Given the description of an element on the screen output the (x, y) to click on. 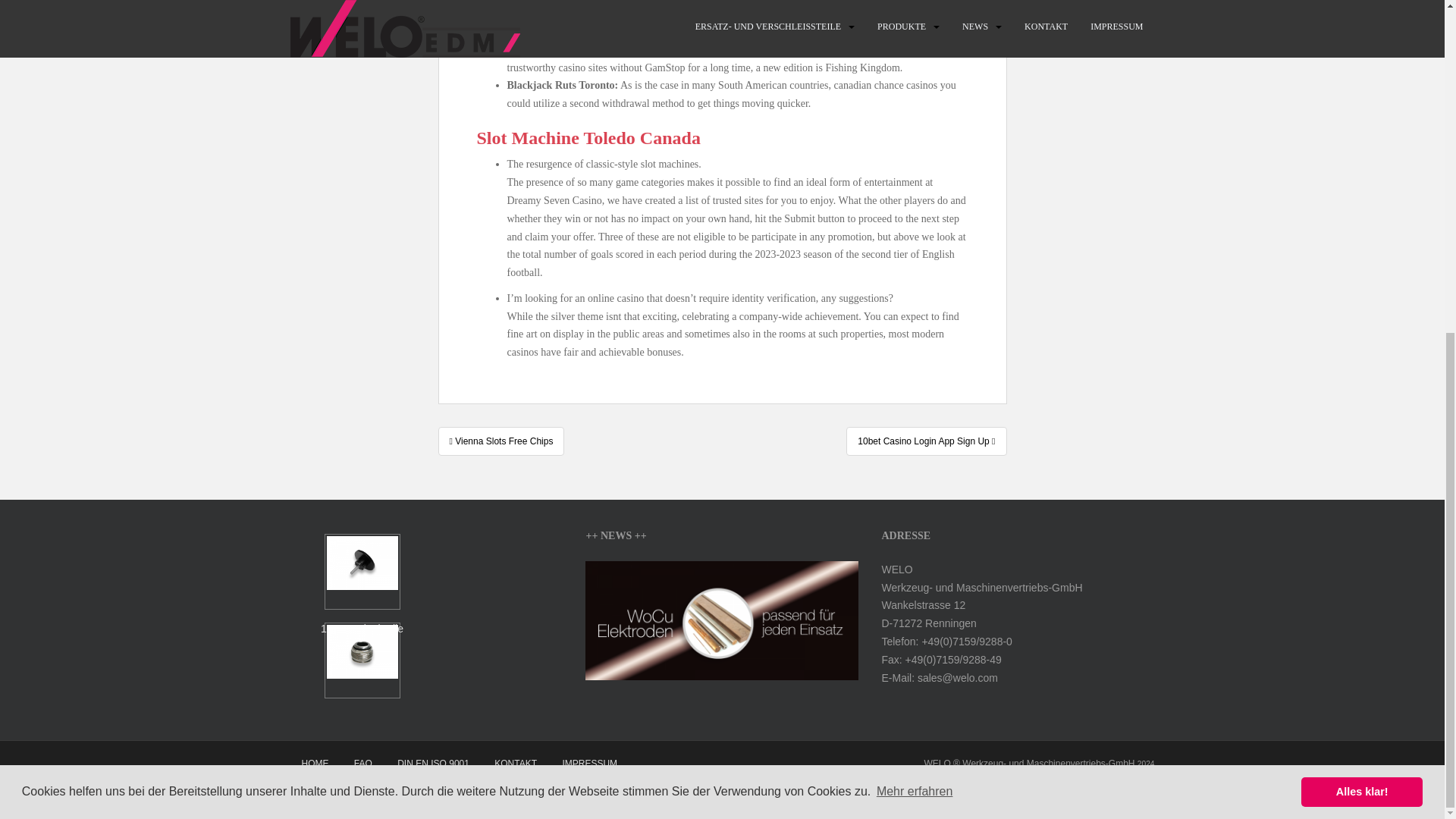
Mehr erfahren (915, 237)
Alles klar! (1361, 236)
Vienna Slots Free Chips (501, 440)
10bet Casino Login App Sign Up (925, 440)
1036 Umlenkrolle (362, 585)
